Given the description of an element on the screen output the (x, y) to click on. 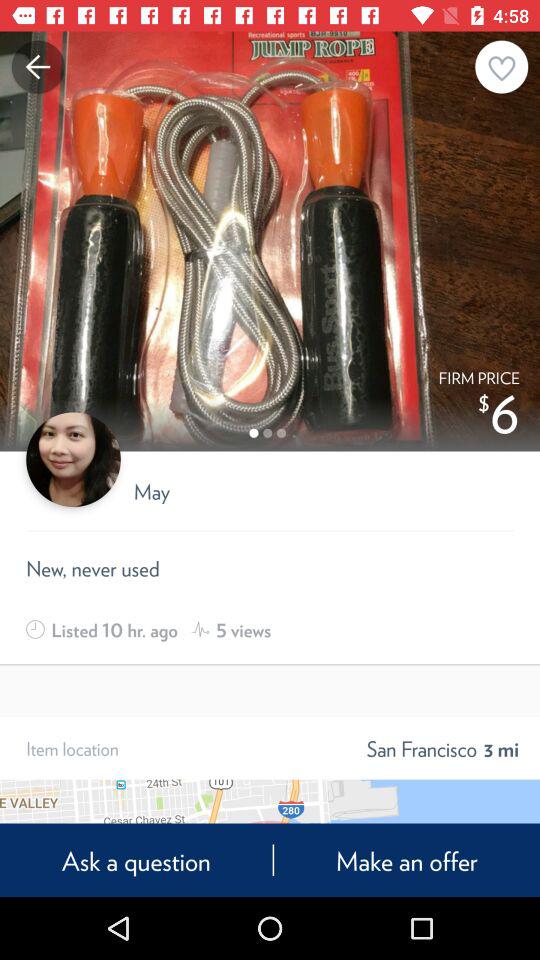
select the text make an offer at the bottom (406, 859)
